Given the description of an element on the screen output the (x, y) to click on. 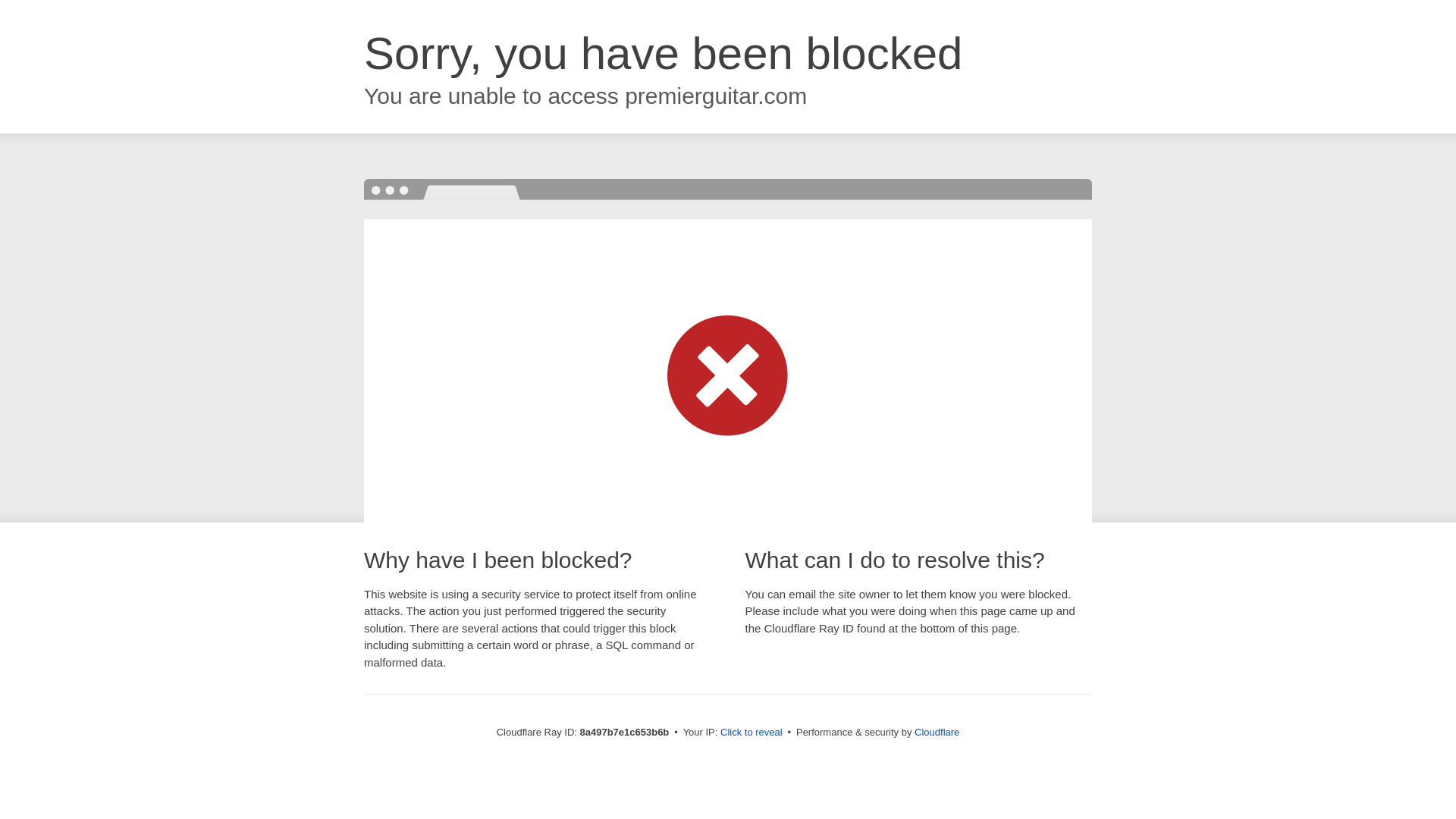
Click to reveal (751, 732)
Cloudflare (936, 731)
